Given the description of an element on the screen output the (x, y) to click on. 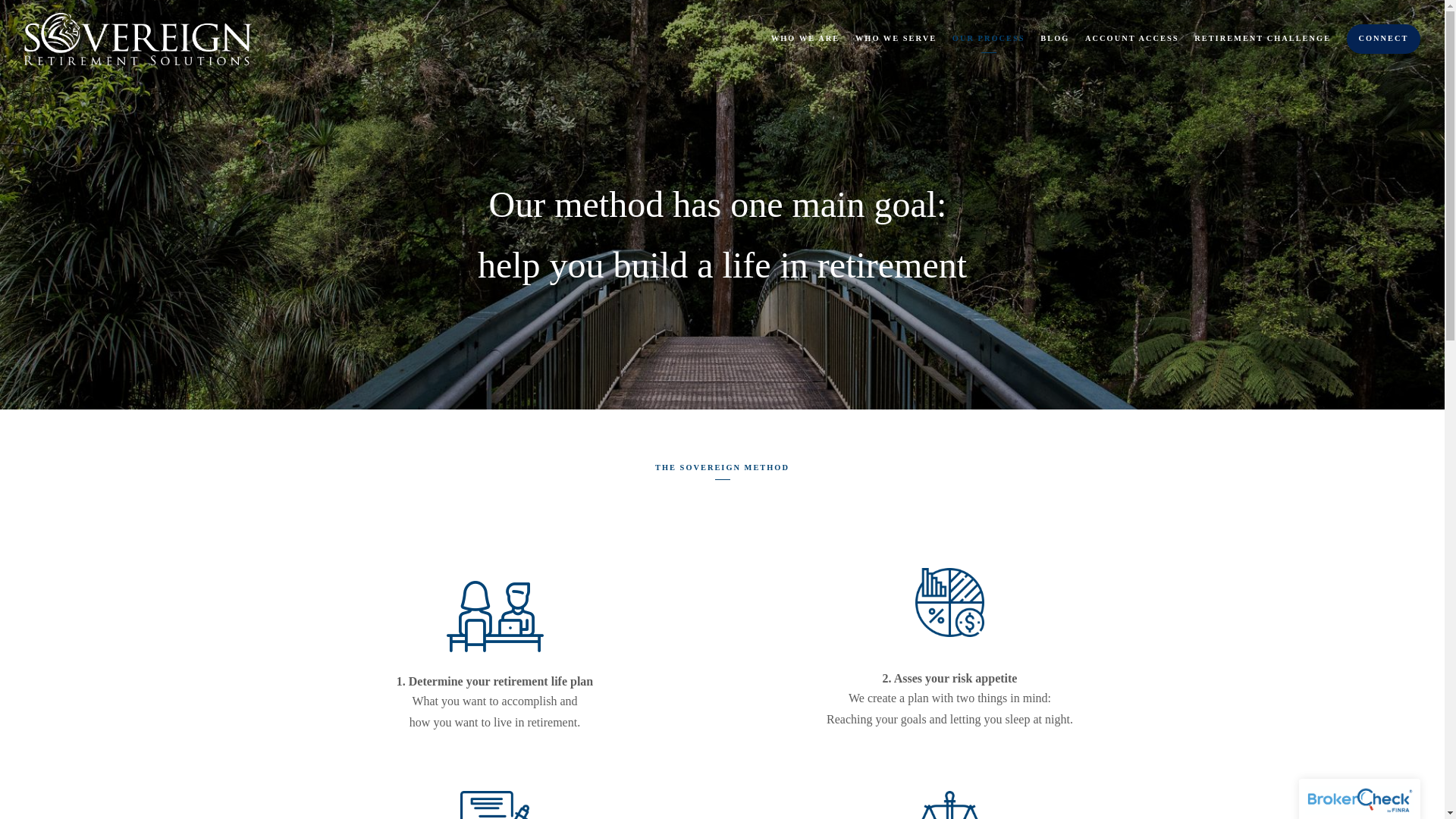
WHO WE ARE (805, 38)
WHO WE SERVE (896, 38)
ACCOUNT ACCESS (1130, 38)
OUR PROCESS (988, 38)
CONNECT (1383, 39)
RETIREMENT CHALLENGE (1261, 38)
BLOG (1054, 38)
THE SOVEREIGN METHOD (722, 468)
